Given the description of an element on the screen output the (x, y) to click on. 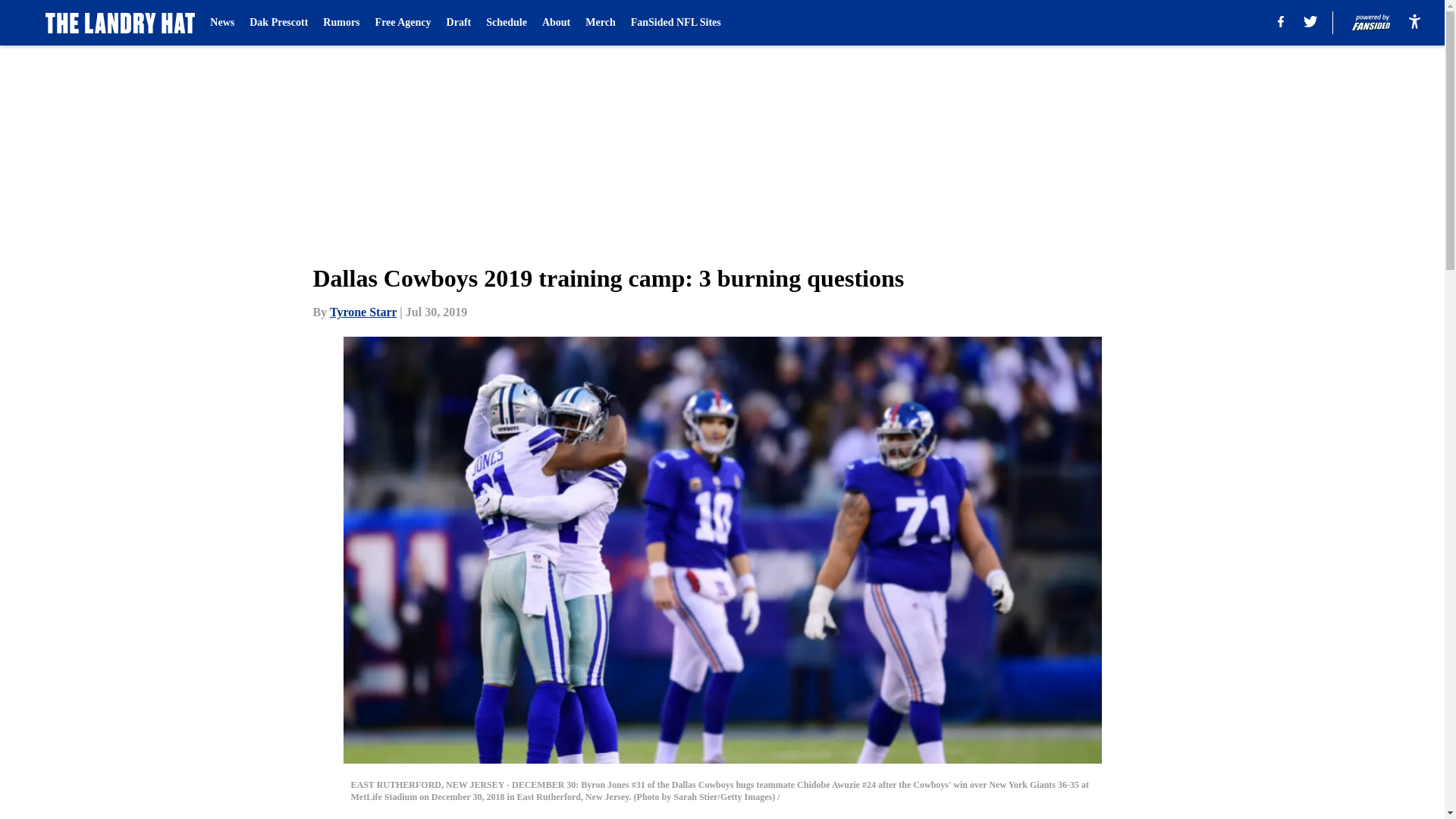
About (555, 22)
Tyrone Starr (363, 311)
FanSided NFL Sites (675, 22)
News (221, 22)
Free Agency (402, 22)
Merch (599, 22)
Draft (458, 22)
Dak Prescott (277, 22)
Schedule (506, 22)
Rumors (341, 22)
